Given the description of an element on the screen output the (x, y) to click on. 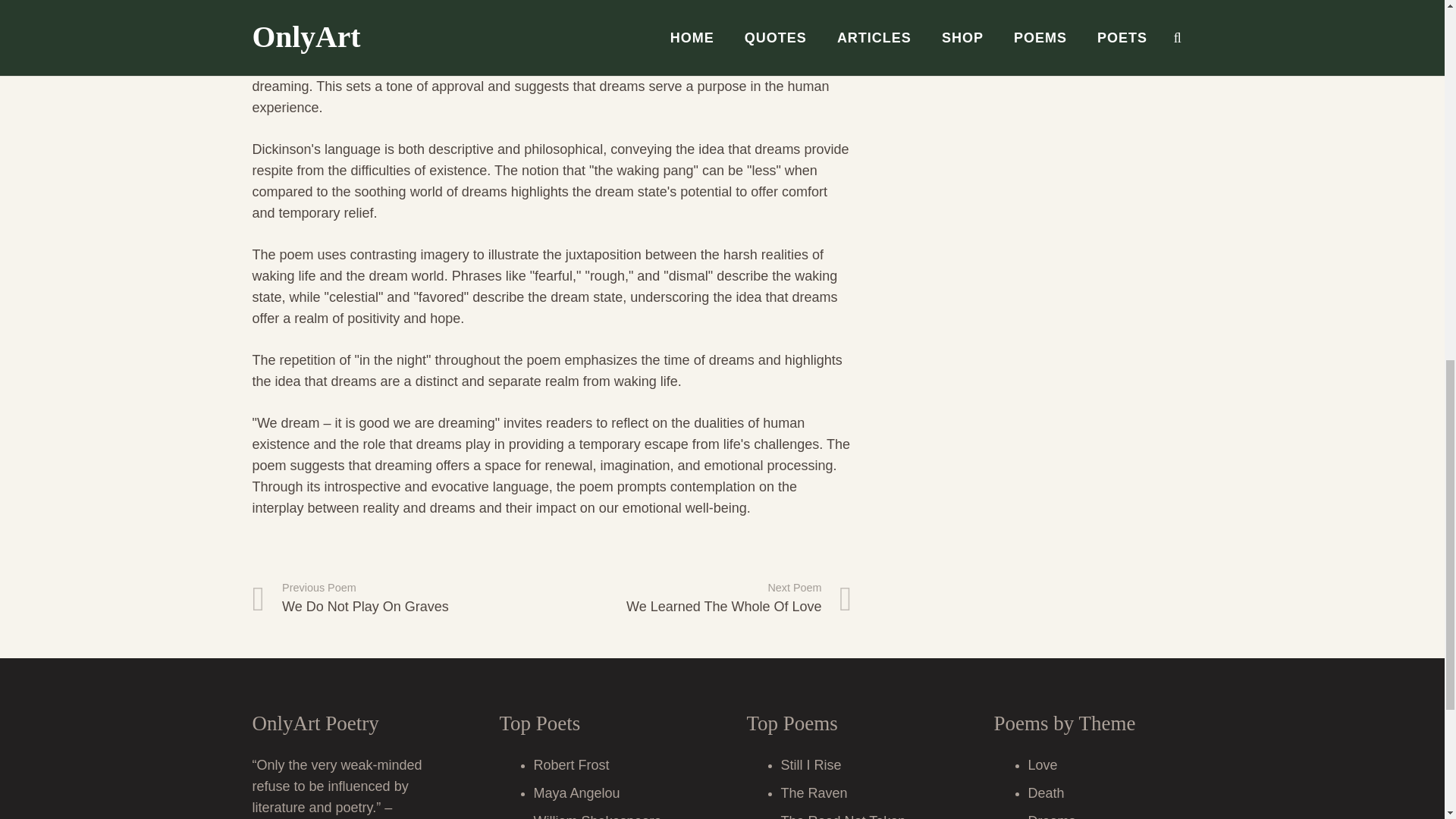
We Learned The Whole Of Love (701, 598)
We Do Not Play On Graves (401, 598)
Back to top (701, 598)
